Given the description of an element on the screen output the (x, y) to click on. 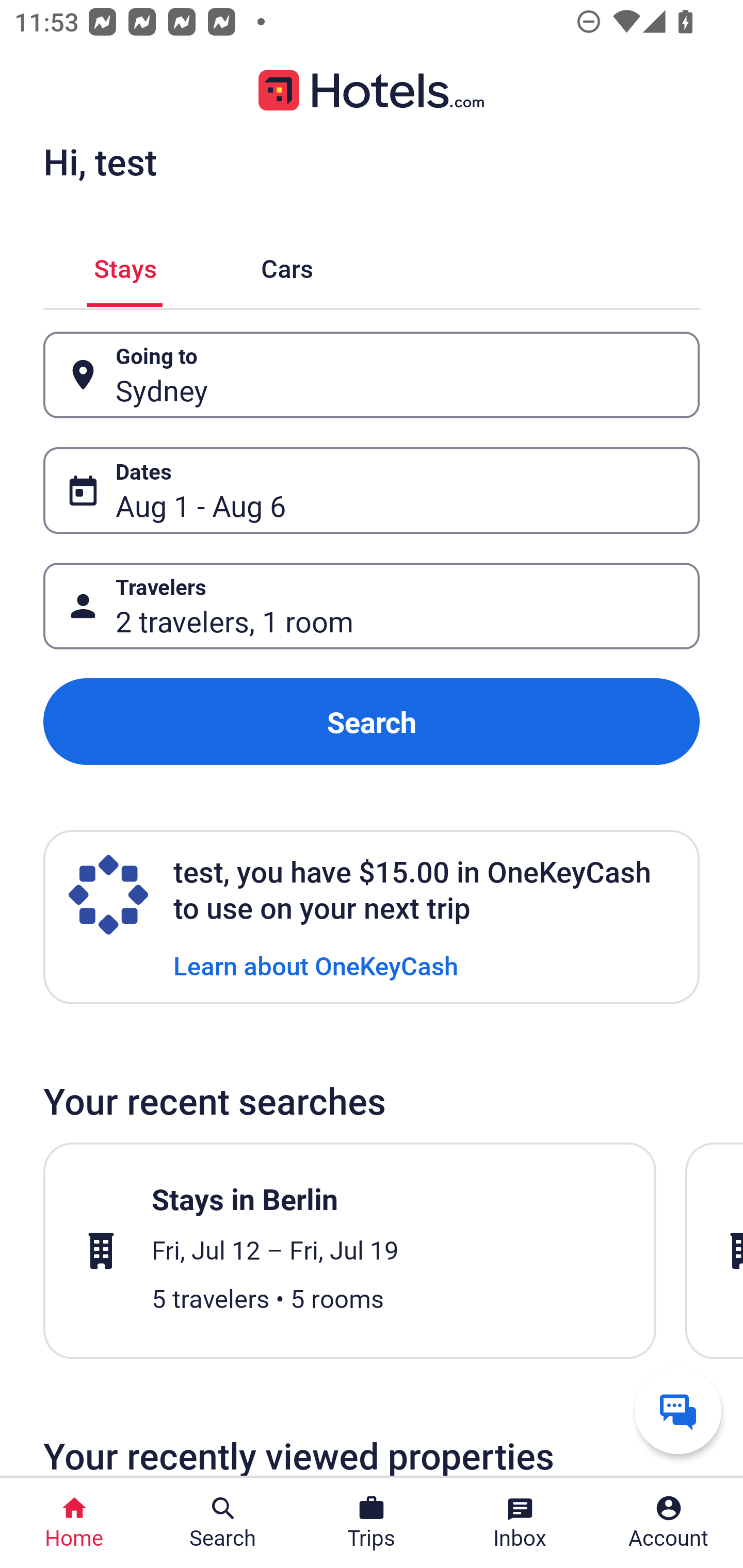
Hi, test (99, 161)
Cars (286, 265)
Going to Button Sydney (371, 375)
Dates Button Aug 1 - Aug 6 (371, 489)
Travelers Button 2 travelers, 1 room (371, 605)
Search (371, 721)
Learn about OneKeyCash Learn about OneKeyCash Link (315, 964)
Get help from a virtual agent (677, 1410)
Search Search Button (222, 1522)
Trips Trips Button (371, 1522)
Inbox Inbox Button (519, 1522)
Account Profile. Button (668, 1522)
